Given the description of an element on the screen output the (x, y) to click on. 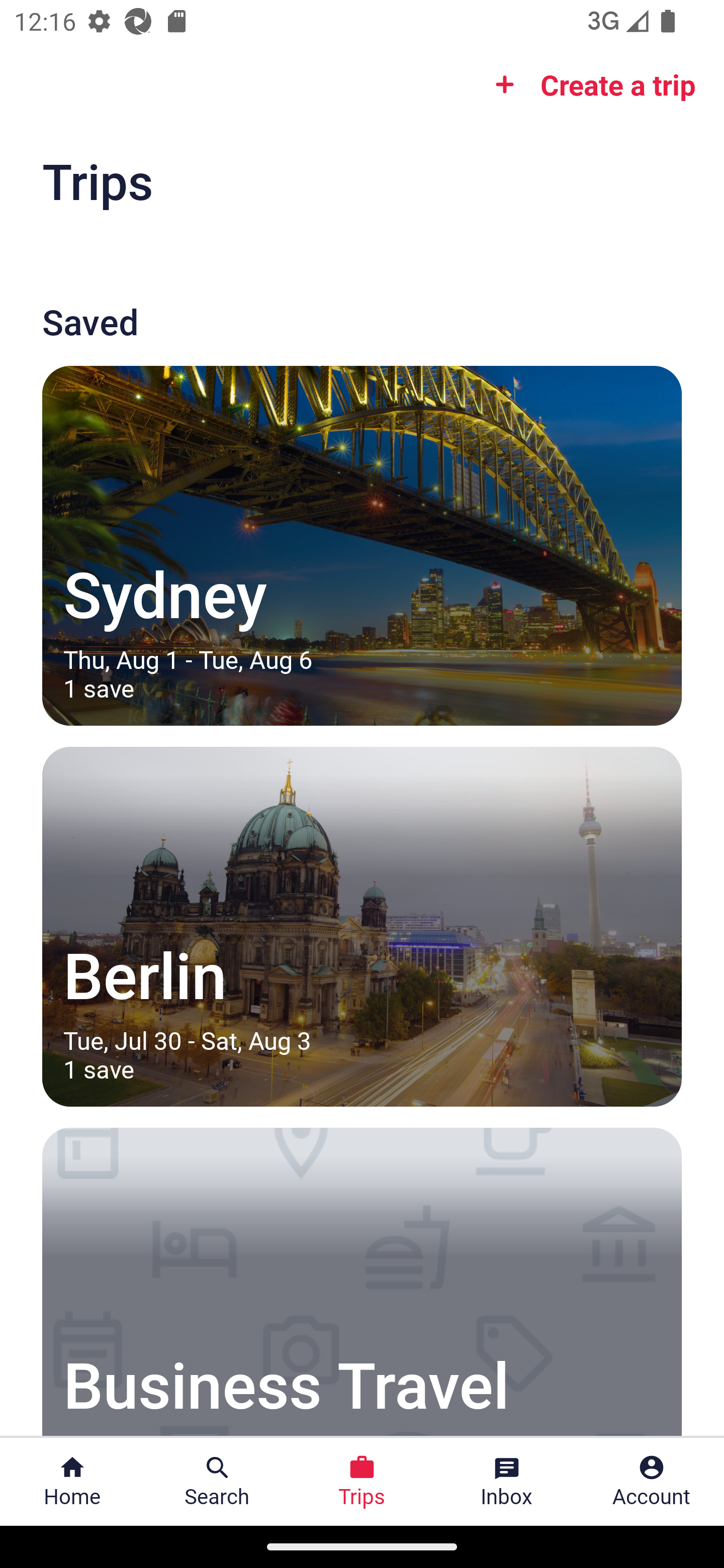
Create a trip Create a trip Button (589, 84)
Home Home Button (72, 1481)
Search Search Button (216, 1481)
Inbox Inbox Button (506, 1481)
Account Profile. Button (651, 1481)
